Given the description of an element on the screen output the (x, y) to click on. 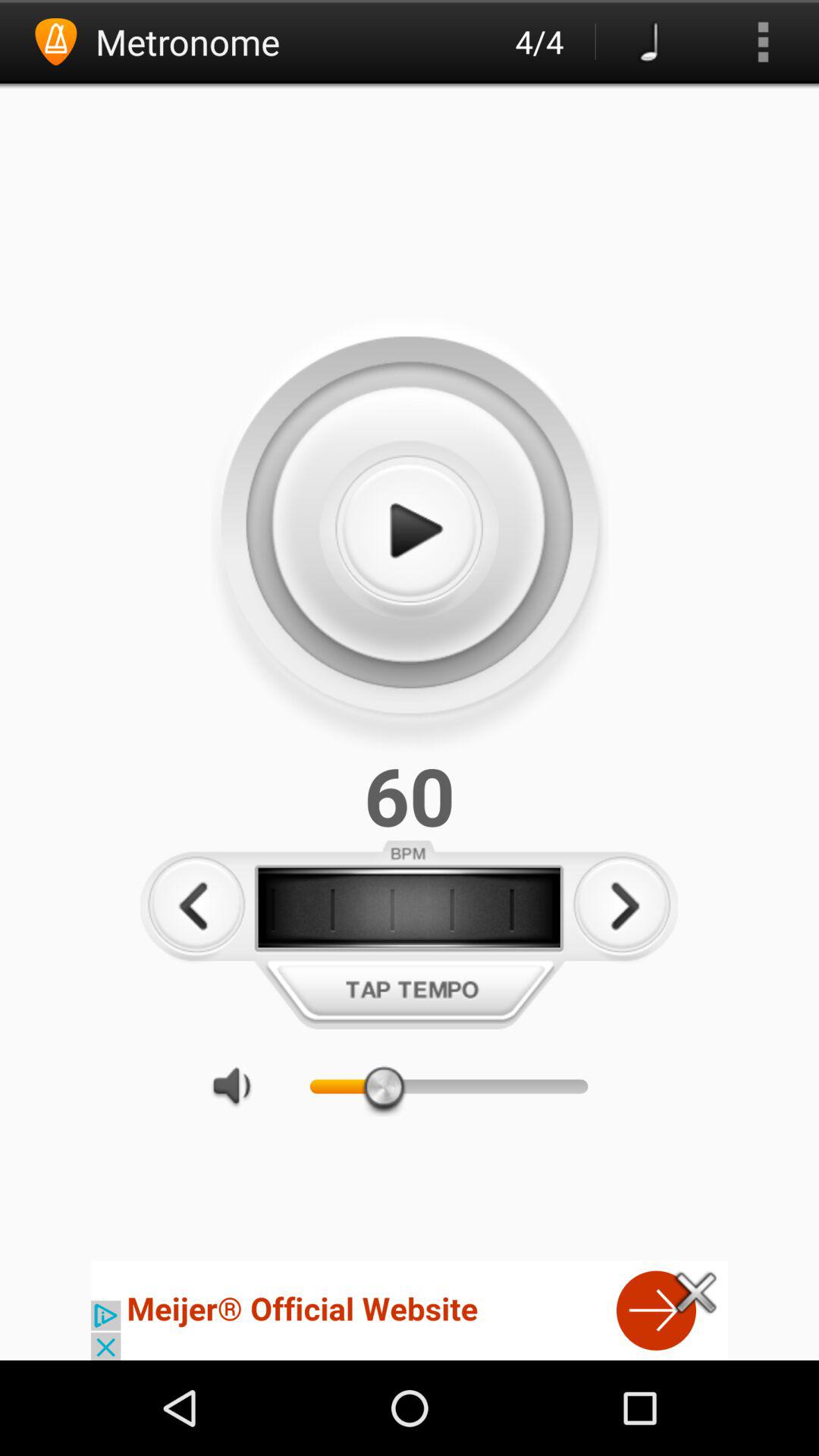
mute volume (239, 1085)
